Given the description of an element on the screen output the (x, y) to click on. 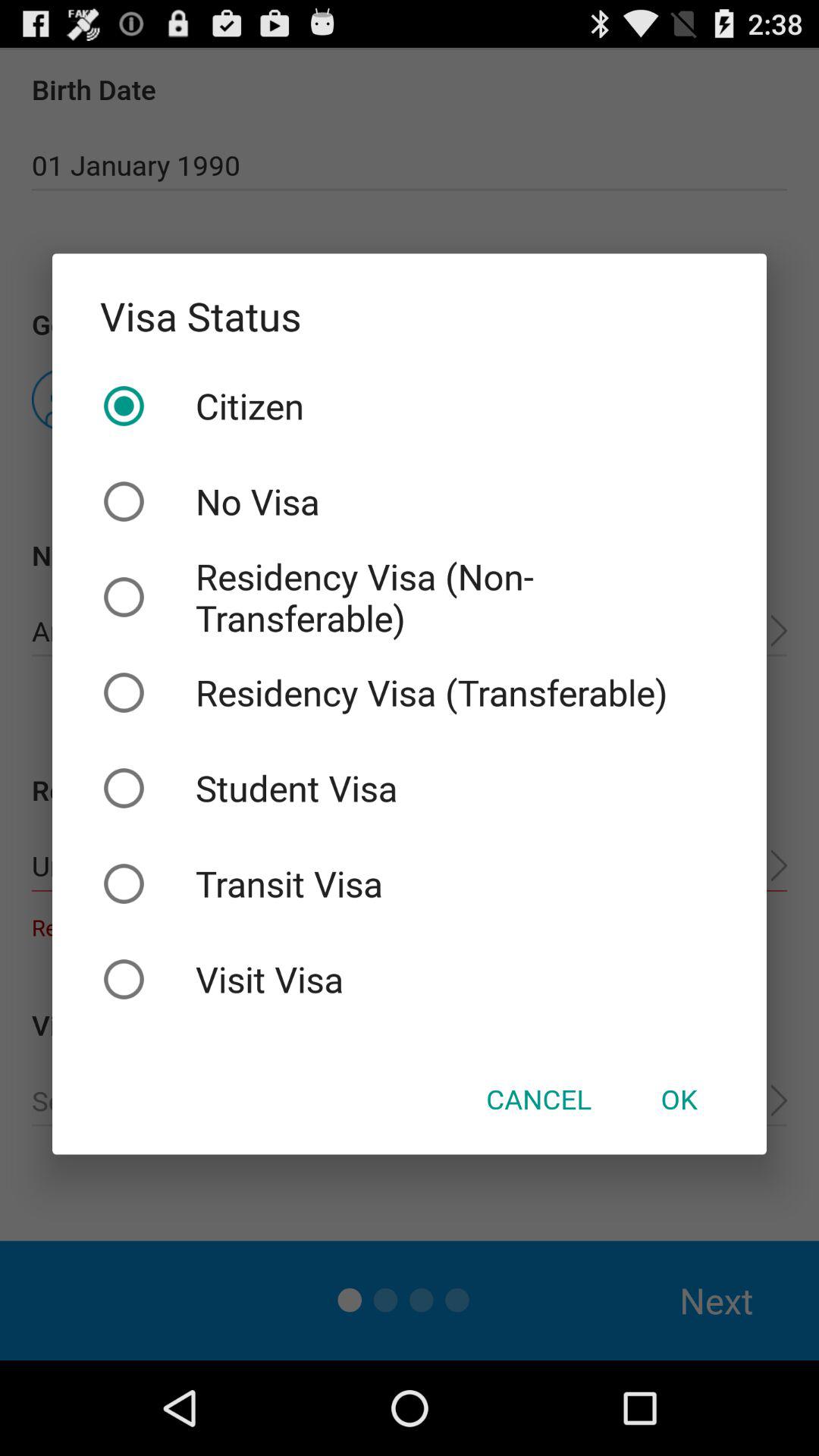
scroll until ok button (678, 1098)
